Given the description of an element on the screen output the (x, y) to click on. 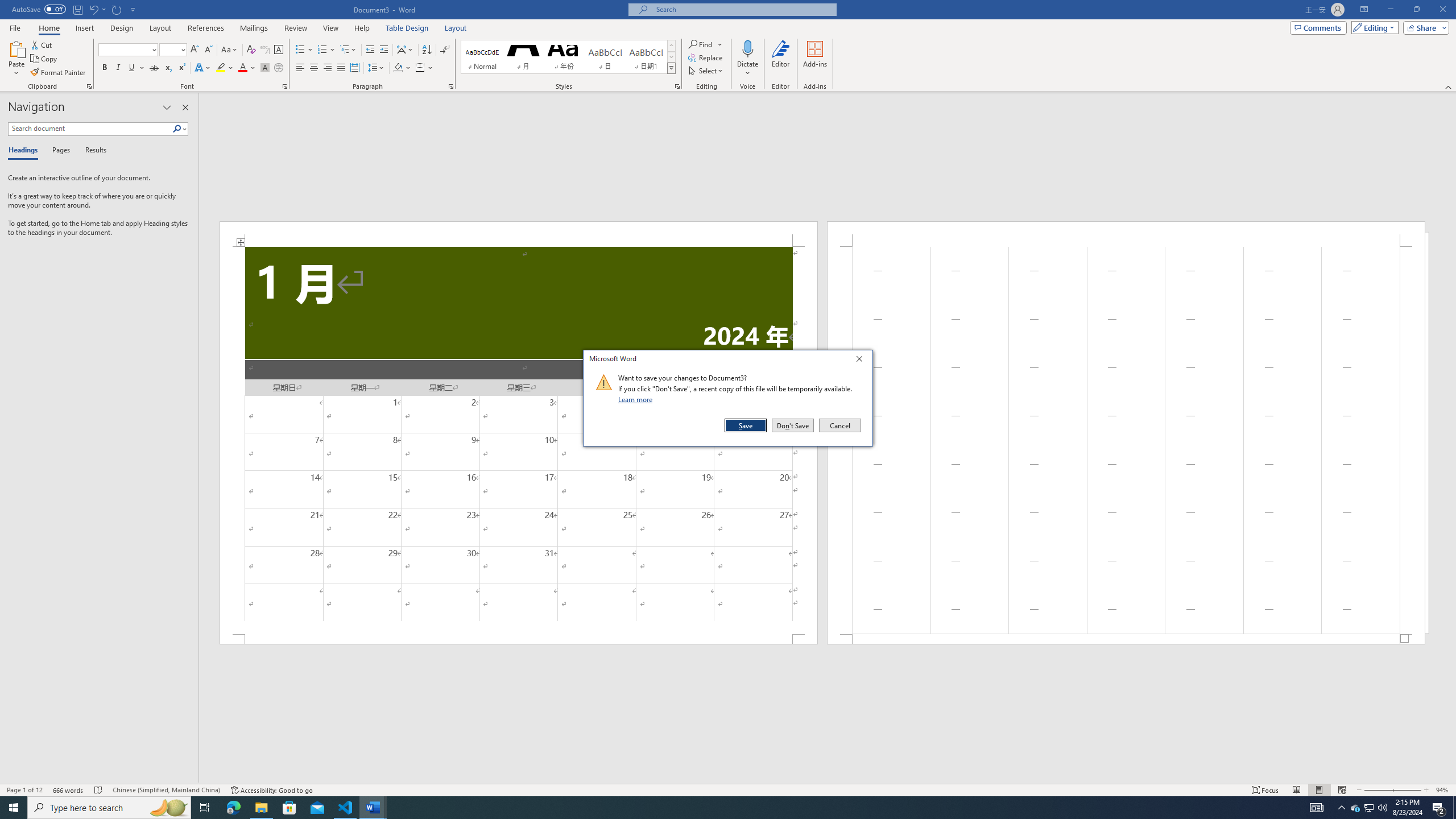
Table Design (407, 28)
Don't Save (792, 425)
Word Count 666 words (68, 790)
Running applications (717, 807)
Replace... (705, 56)
Increase Indent (383, 49)
Repeat Style (117, 9)
Spelling and Grammar Check No Errors (98, 790)
Show desktop (1454, 807)
Italic (118, 67)
Shrink Font (208, 49)
